Given the description of an element on the screen output the (x, y) to click on. 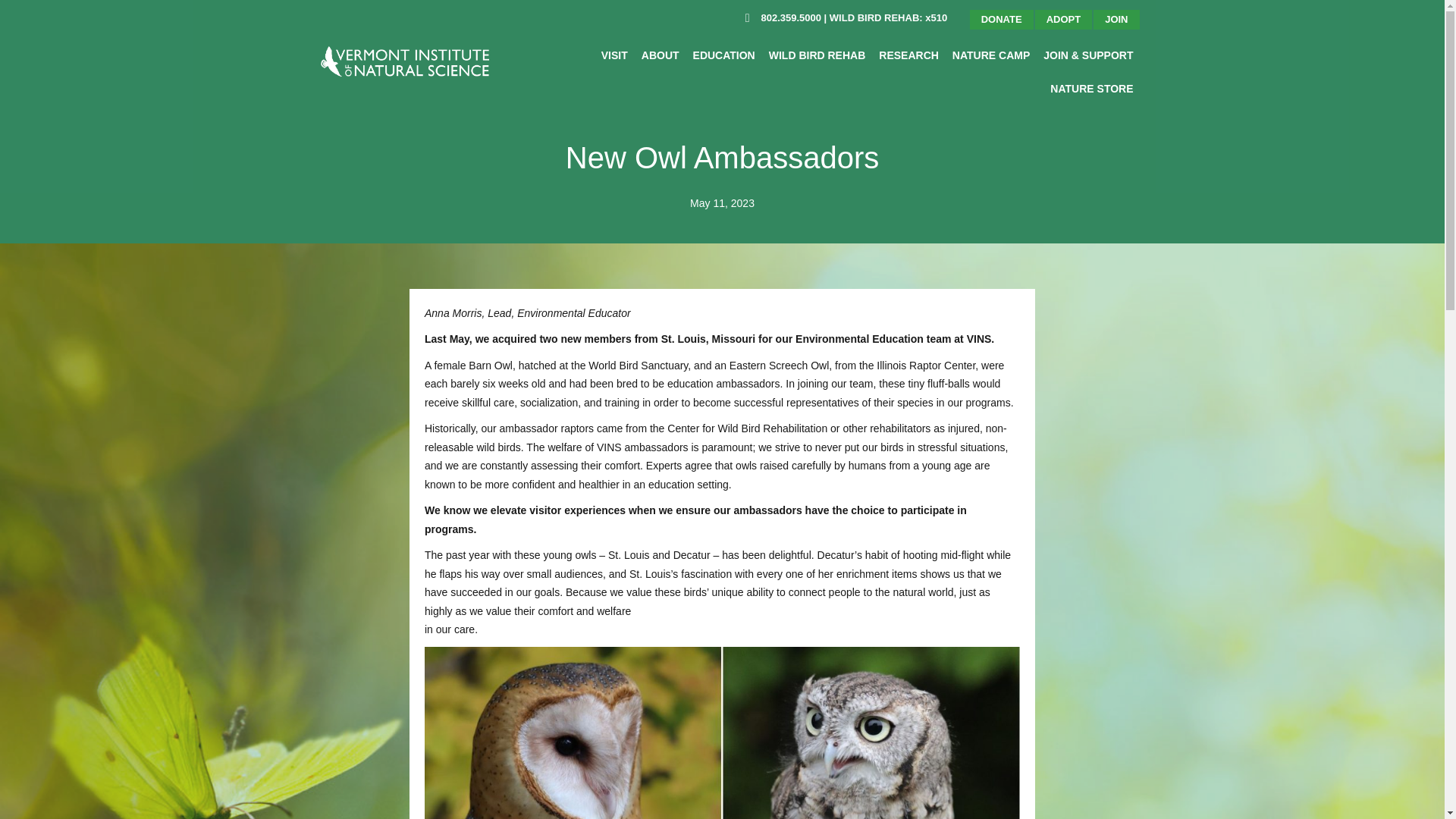
EDUCATION (724, 54)
VISIT (614, 54)
JOIN (1115, 19)
ADOPT (1064, 19)
ABOUT (659, 54)
DONATE (1001, 19)
